Given the description of an element on the screen output the (x, y) to click on. 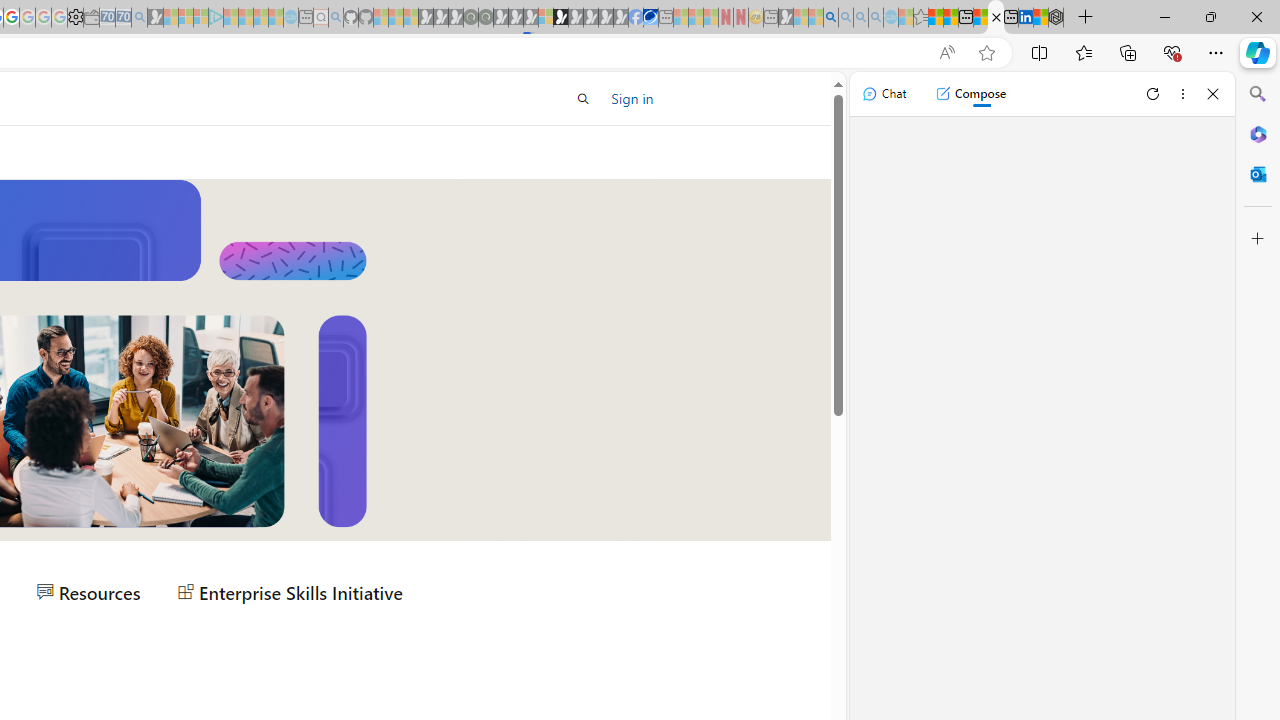
Compose (970, 93)
Chat (884, 93)
Enterprise Skills Initiative (290, 592)
Nordace | Facebook - Sleeping (635, 17)
